Given the description of an element on the screen output the (x, y) to click on. 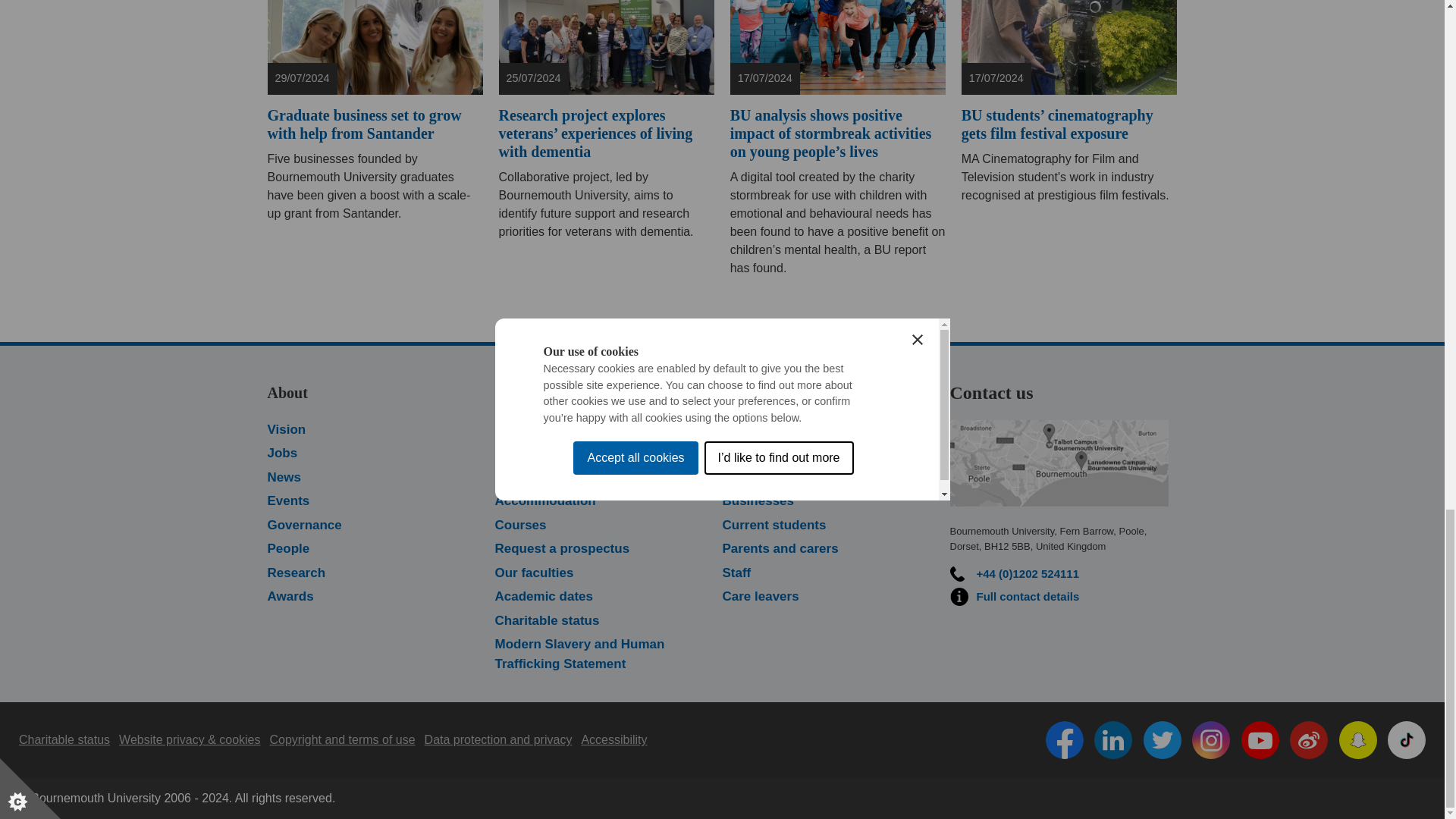
Graduate business set to grow with help from Santander  (374, 47)
